Given the description of an element on the screen output the (x, y) to click on. 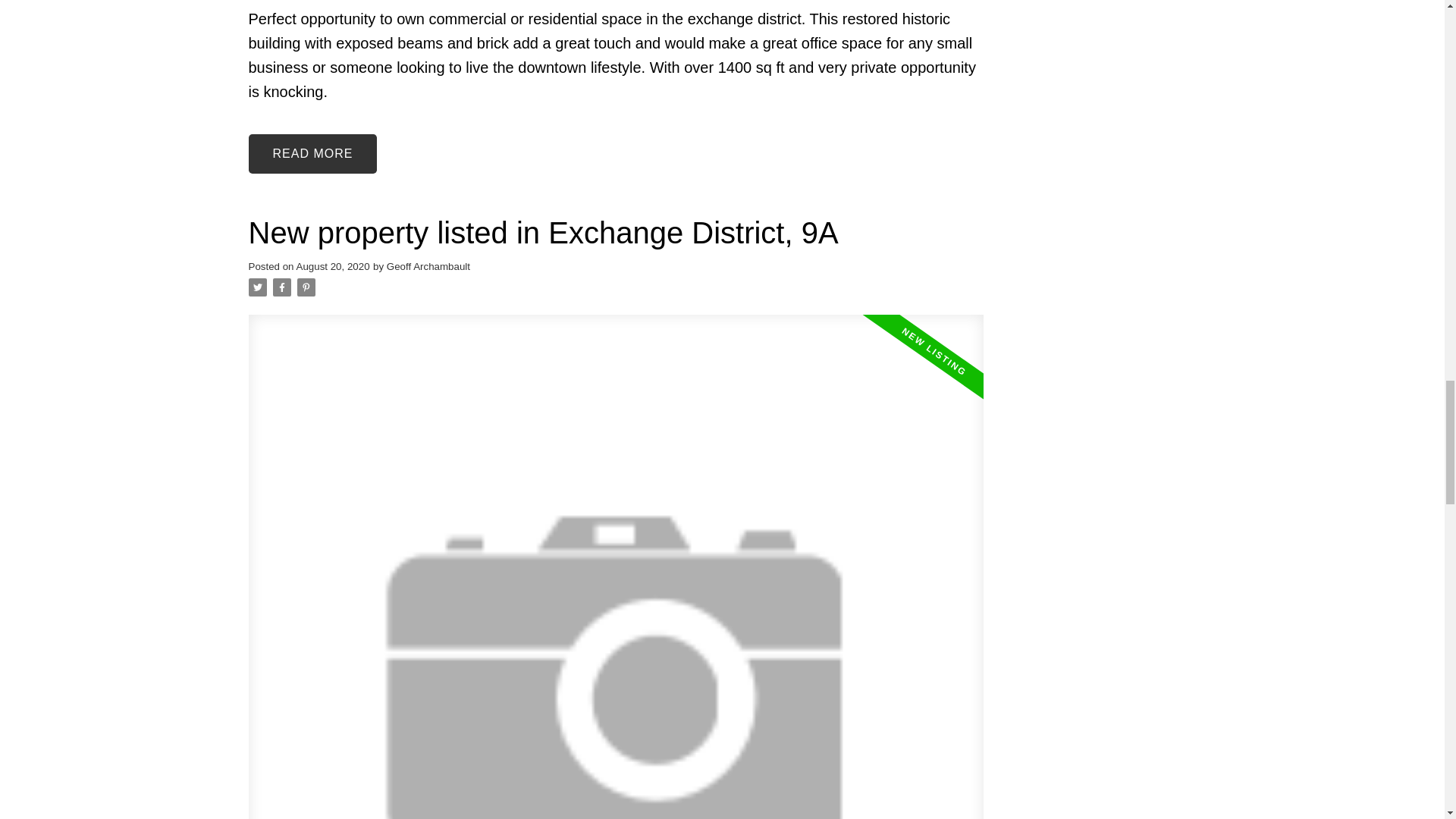
READ (312, 153)
New property listed in Exchange District, 9A (616, 232)
